Given the description of an element on the screen output the (x, y) to click on. 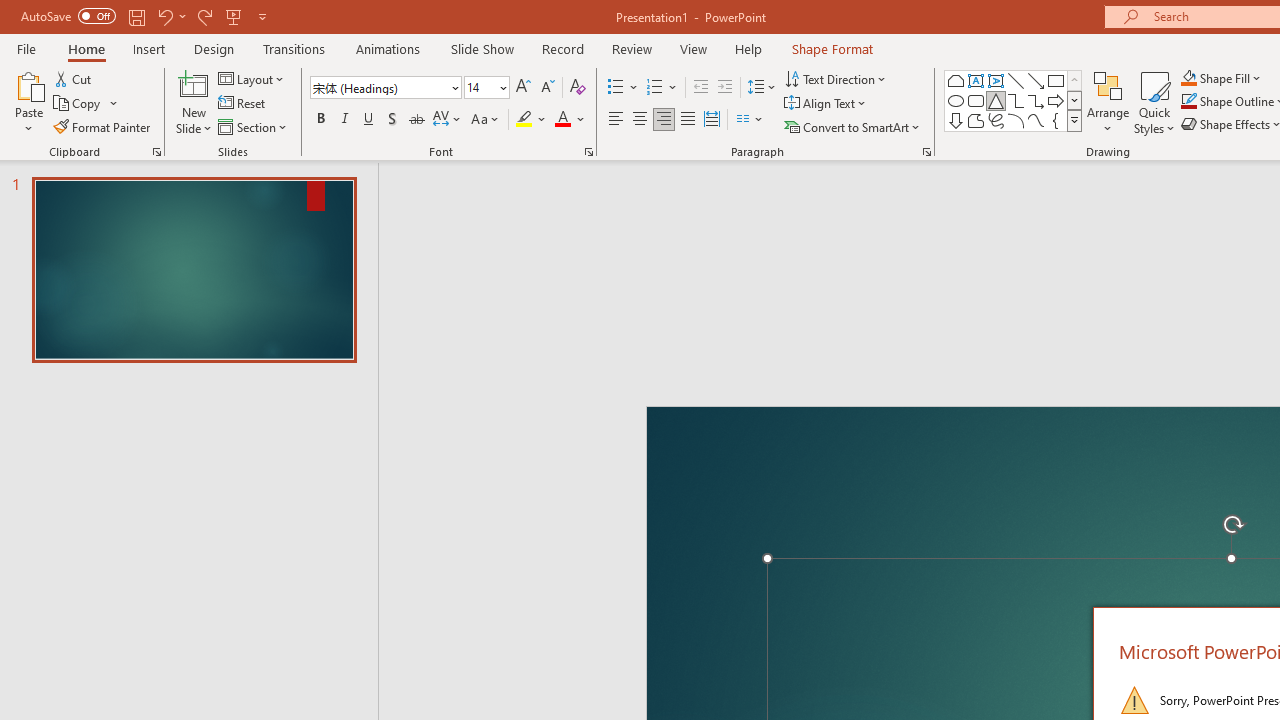
Shape Outline Blue, Accent 1 (1188, 101)
Warning Icon (1134, 699)
